Given the description of an element on the screen output the (x, y) to click on. 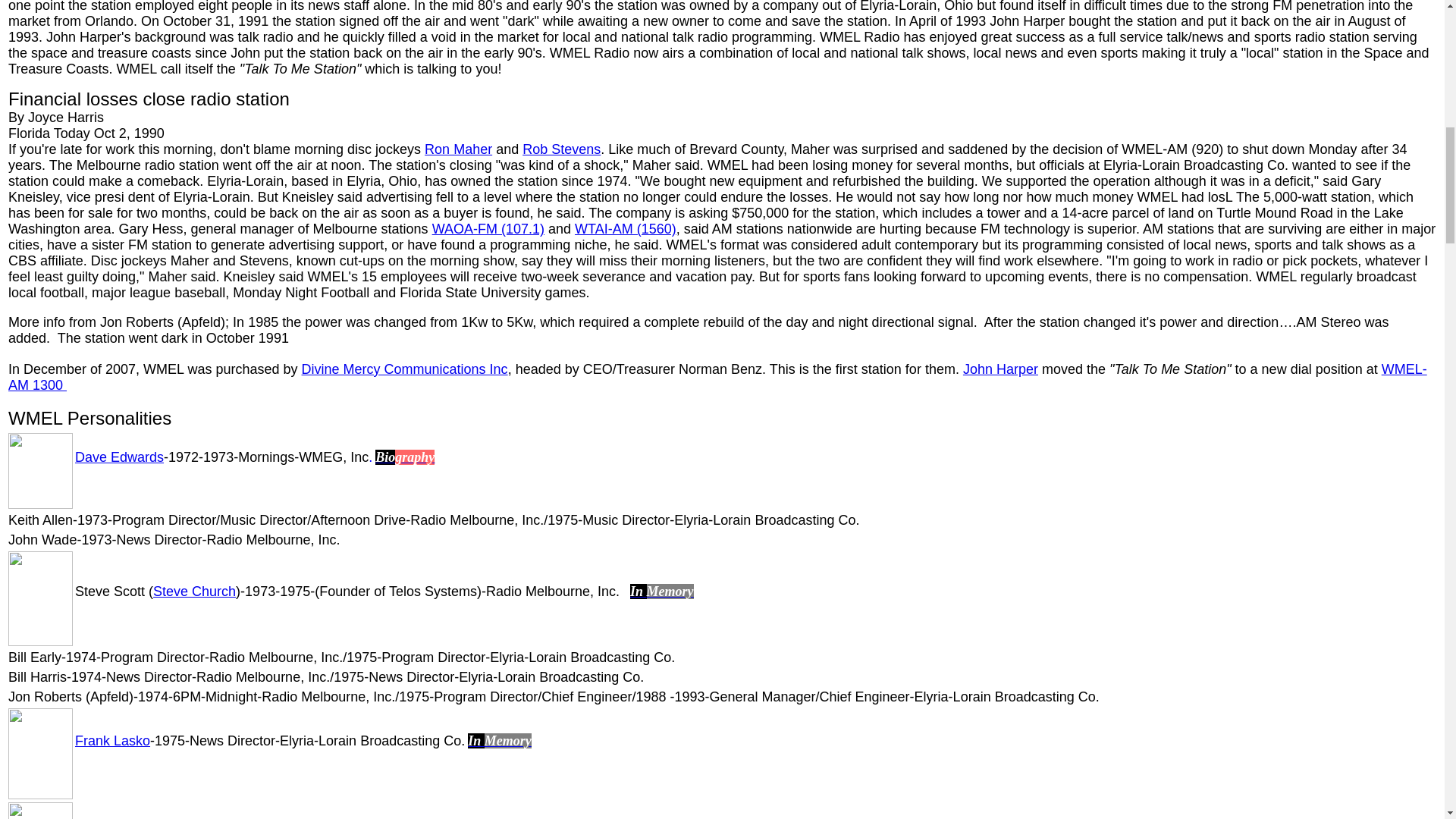
Keith Allen (40, 520)
WMEL-AM 1300 (717, 377)
Rob Stevens (560, 149)
John Wade (42, 540)
Ron Maher (458, 149)
John Harper (1000, 368)
Steve Church (193, 590)
In Memory (499, 740)
Bill Early (34, 656)
Divine Mercy Communications Inc (404, 368)
